Given the description of an element on the screen output the (x, y) to click on. 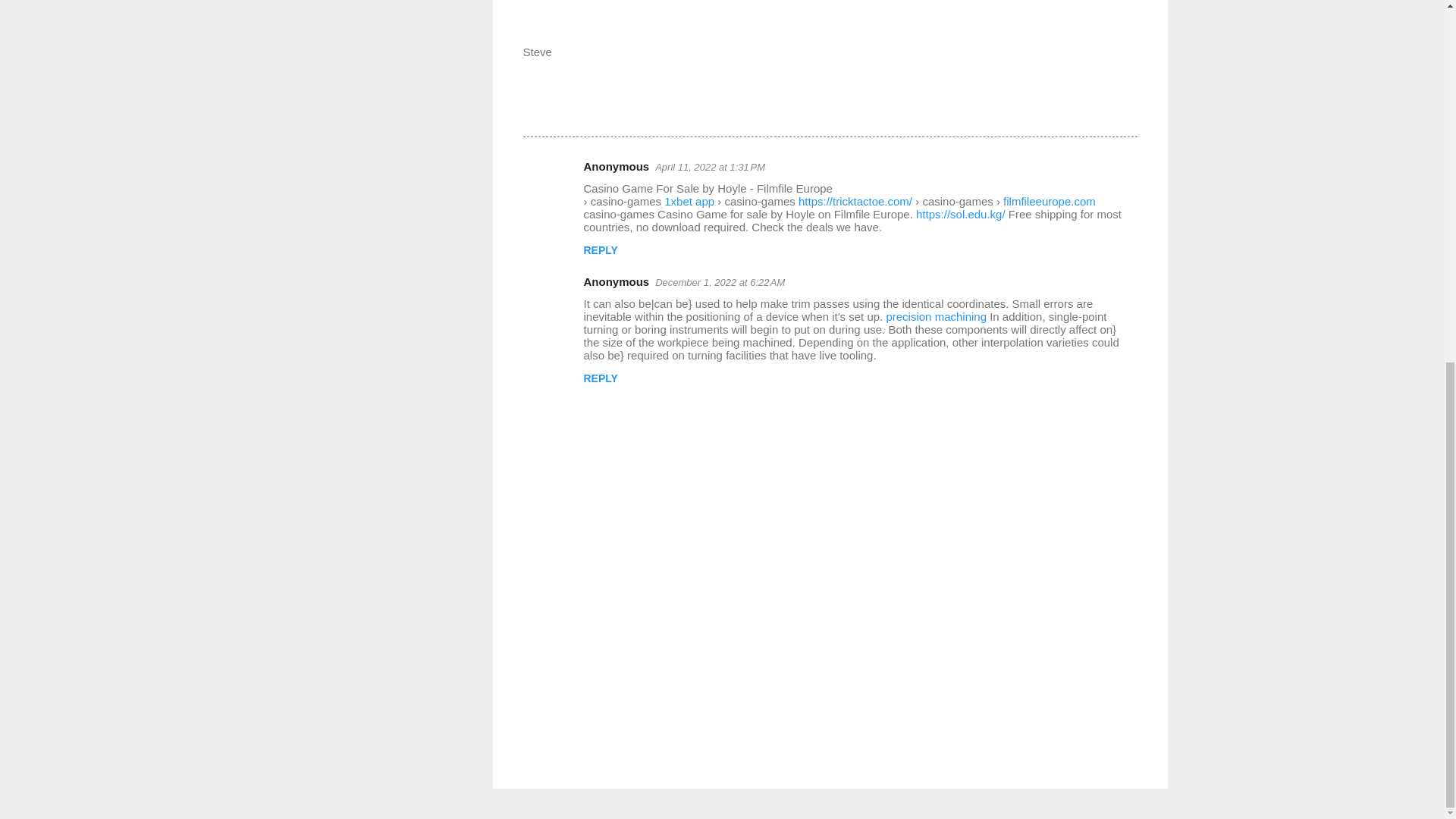
REPLY (600, 250)
precision machining (936, 316)
REPLY (600, 378)
1xbet app (688, 201)
filmfileeurope.com (1049, 201)
